Given the description of an element on the screen output the (x, y) to click on. 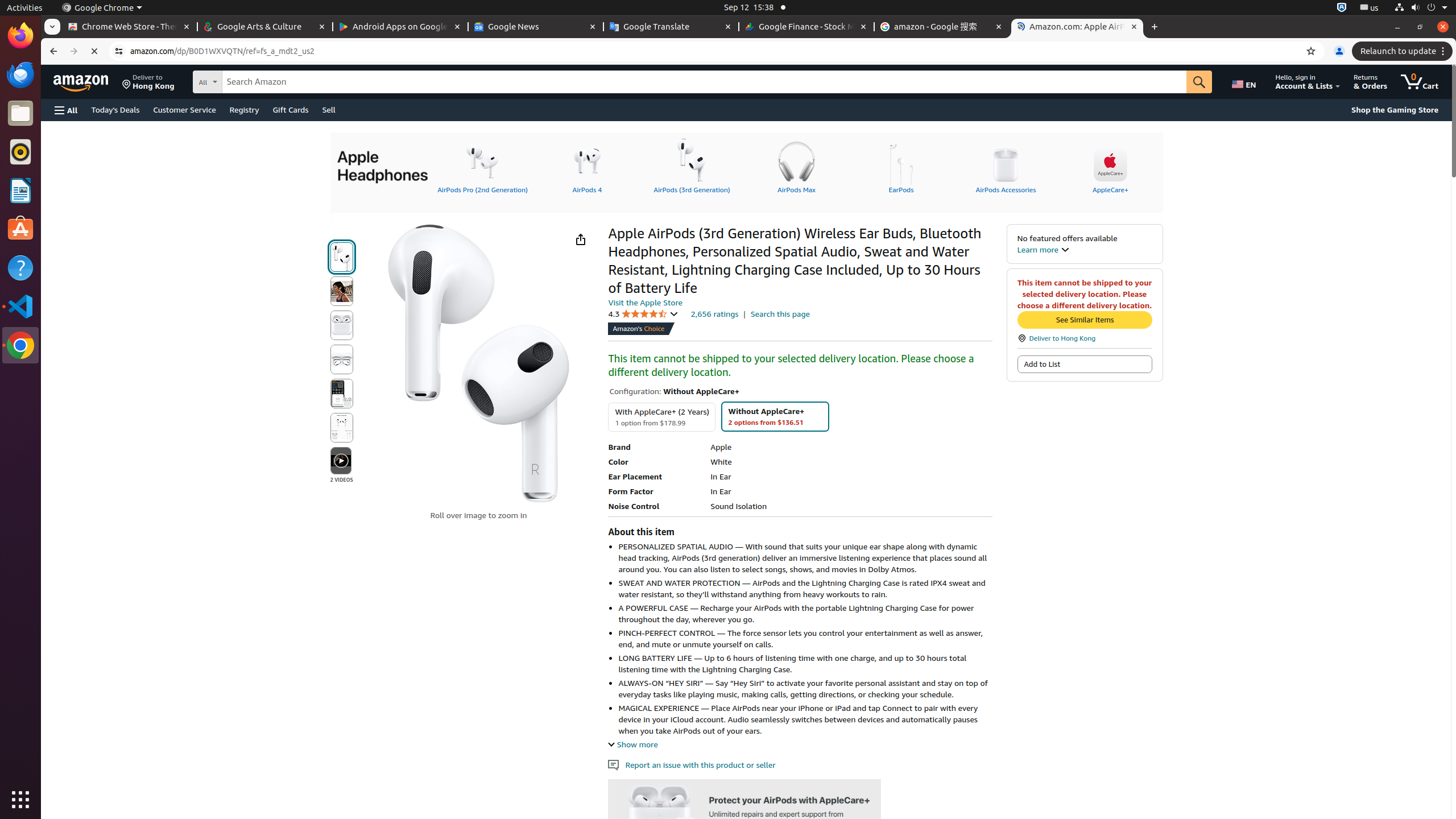
Back Element type: push-button (51, 50)
Forward Element type: push-button (73, 50)
Bookmark this tab Element type: push-button (1310, 51)
Search this page Element type: link (779, 313)
Visit the Apple Store Element type: link (644, 301)
